Given the description of an element on the screen output the (x, y) to click on. 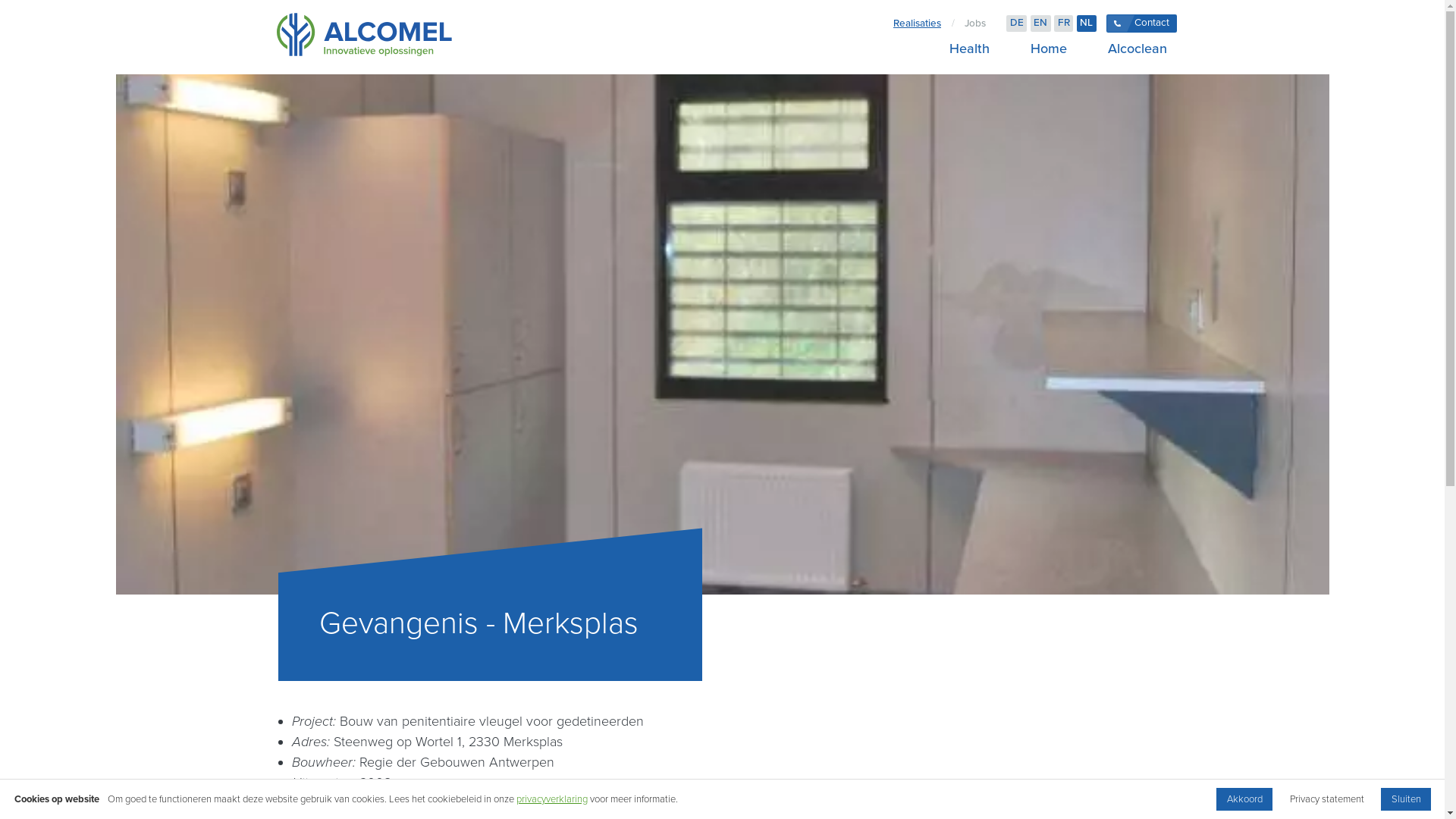
DE Element type: text (1016, 23)
Home Element type: text (1047, 48)
Akkoord Element type: text (1244, 798)
Realisaties Element type: text (917, 23)
Sluiten Element type: text (1405, 798)
Jobs Element type: text (975, 23)
Alcoclean Element type: text (1132, 48)
EN Element type: text (1039, 23)
NL Element type: text (1086, 23)
Health Element type: text (968, 48)
privacyverklaring Element type: text (551, 799)
Privacy statement Element type: text (1326, 798)
Contact Element type: text (1141, 23)
alcomel Element type: text (363, 37)
FR Element type: text (1063, 23)
